Given the description of an element on the screen output the (x, y) to click on. 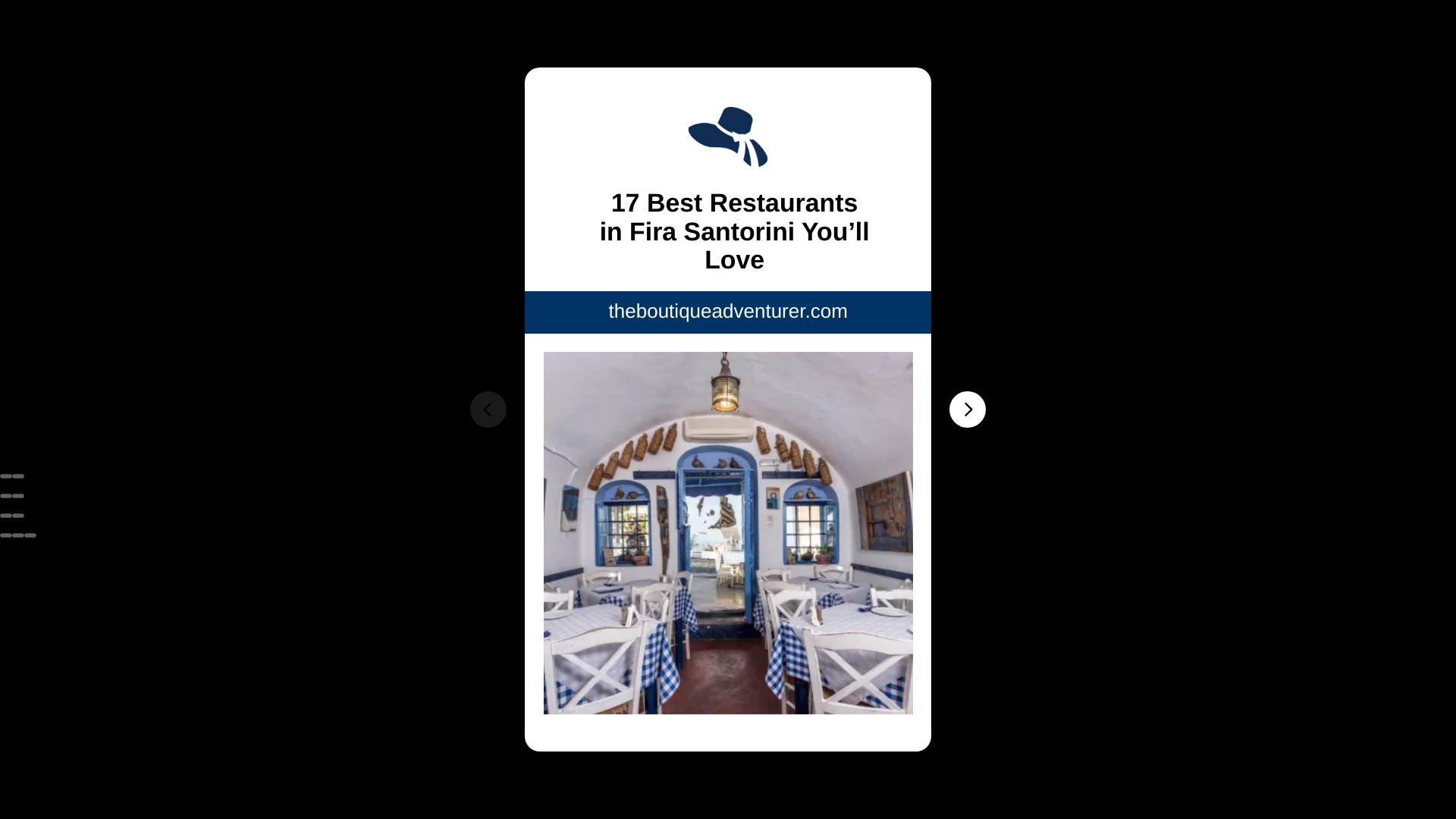
theboutiqueadventurer.com (728, 311)
